Given the description of an element on the screen output the (x, y) to click on. 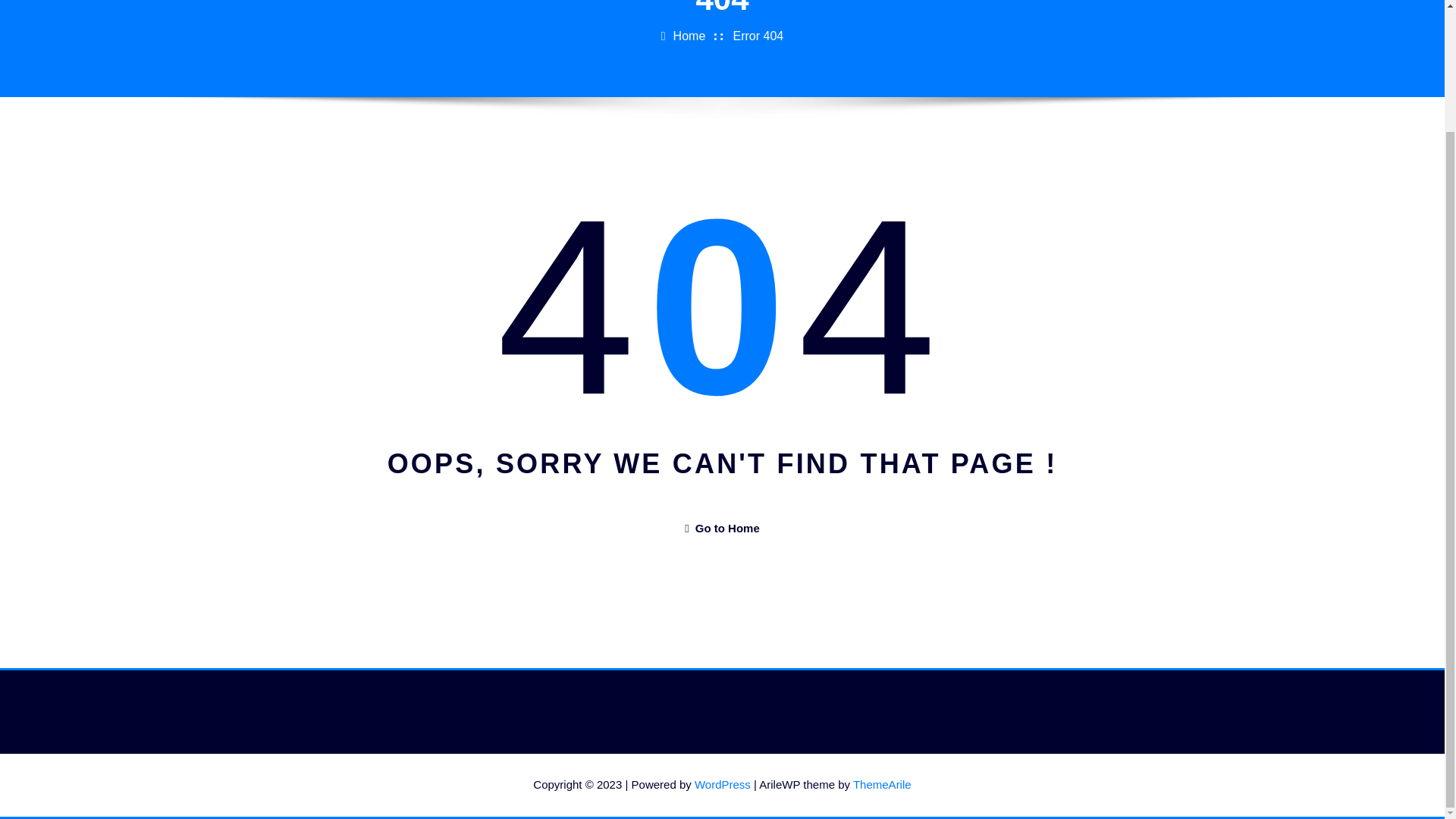
Home (689, 35)
ThemeArile (882, 784)
Error 404 (758, 35)
WordPress (722, 784)
Go to Home (721, 528)
